Given the description of an element on the screen output the (x, y) to click on. 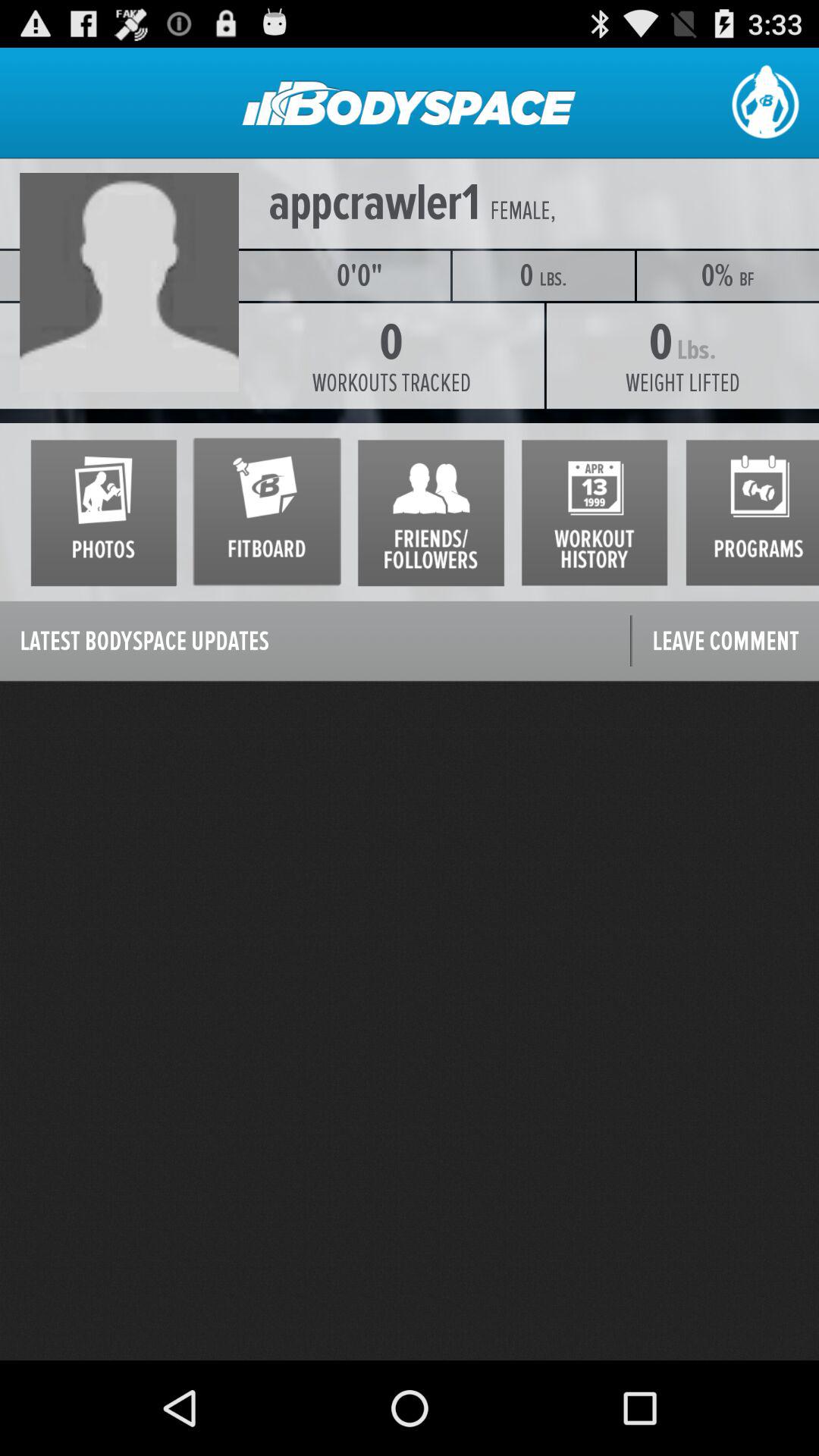
tap appcrawler1 (374, 202)
